Given the description of an element on the screen output the (x, y) to click on. 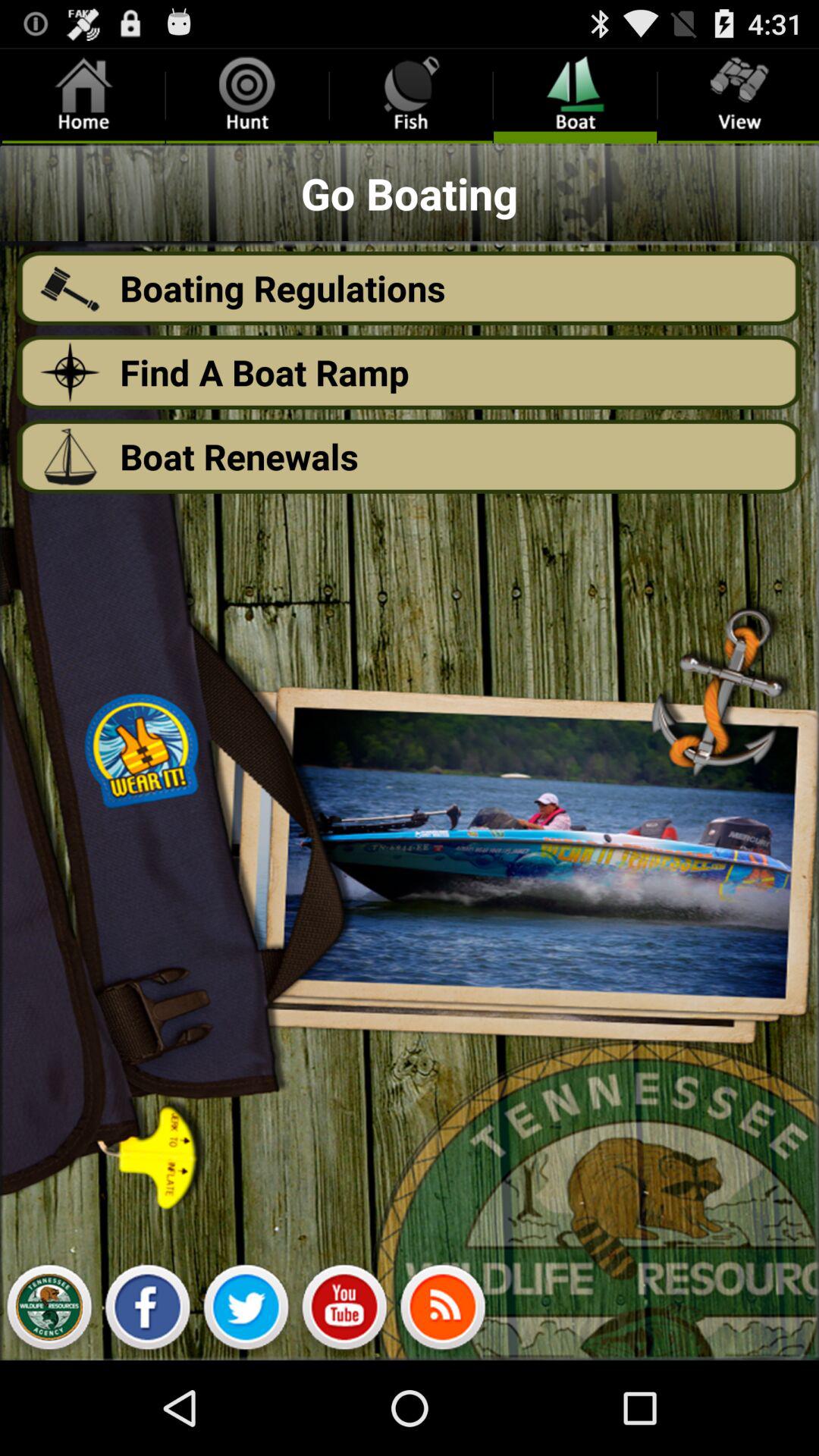
go to facebook page (147, 1311)
